Given the description of an element on the screen output the (x, y) to click on. 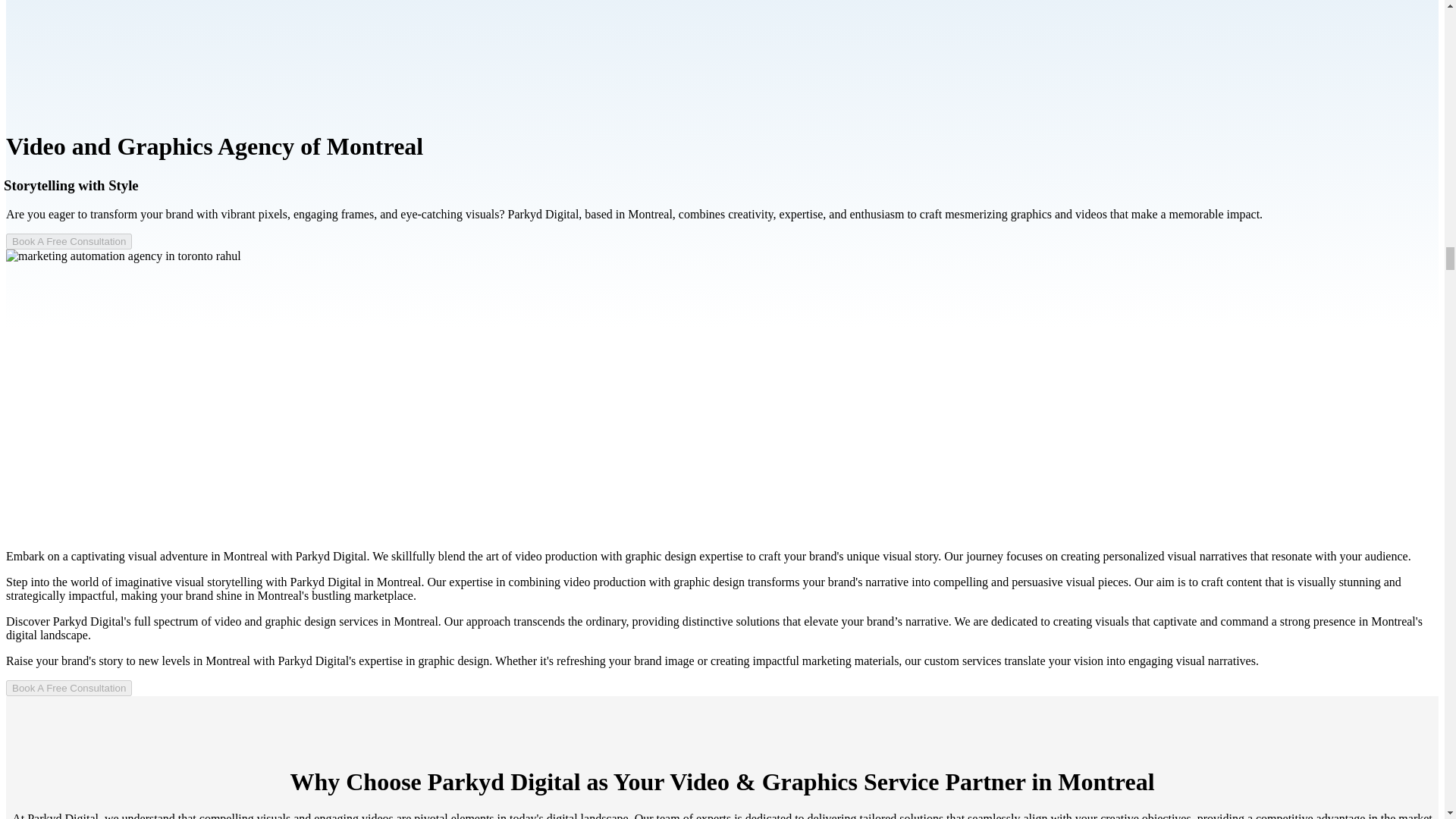
Book A Free Consultation (68, 241)
Book A Free Consultation (68, 688)
Book A Free Consultation (68, 240)
Book A Free Consultation (68, 686)
